Given the description of an element on the screen output the (x, y) to click on. 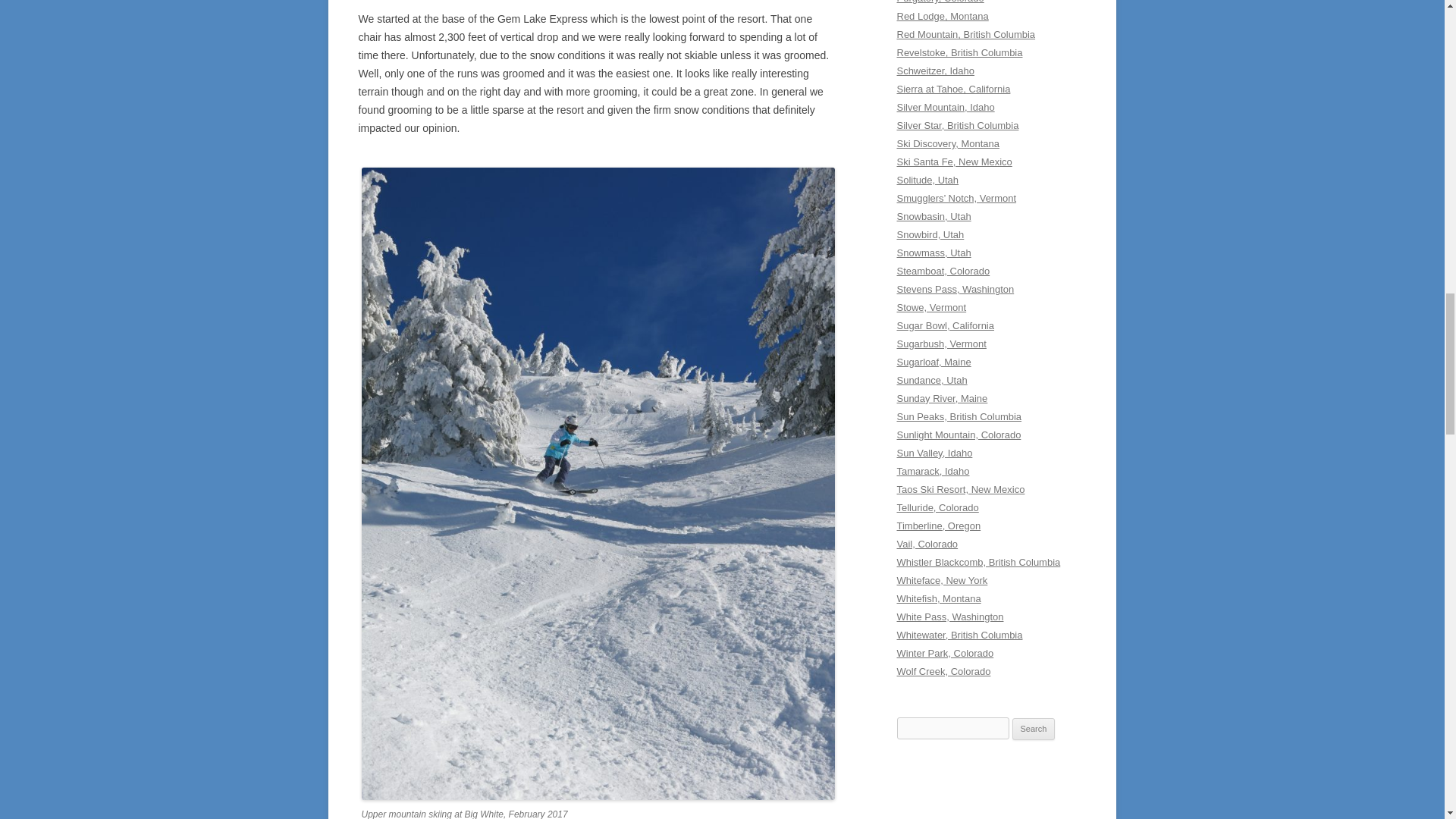
Search (1033, 729)
